Given the description of an element on the screen output the (x, y) to click on. 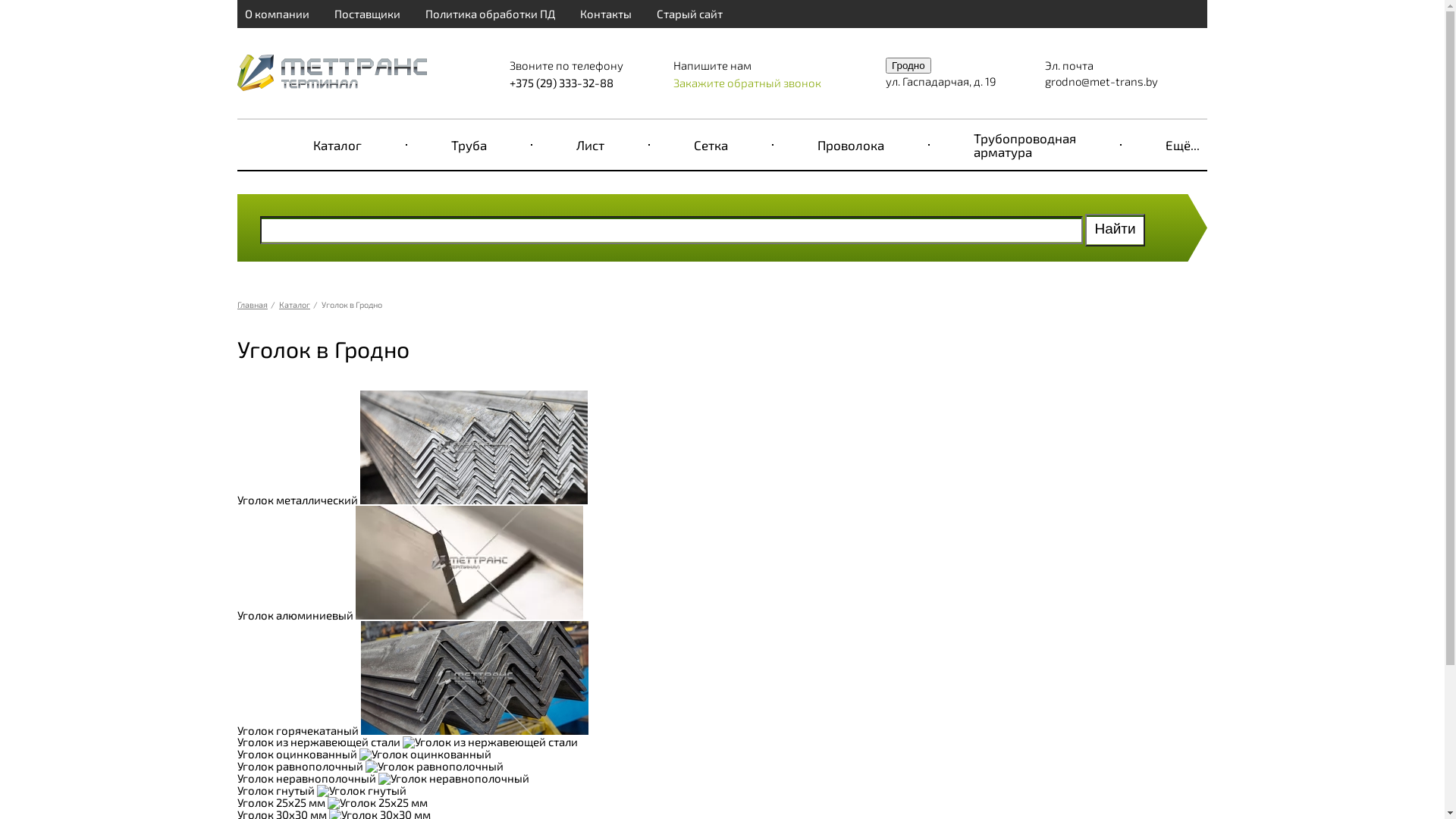
grodno@met-trans.by Element type: text (1100, 80)
